Given the description of an element on the screen output the (x, y) to click on. 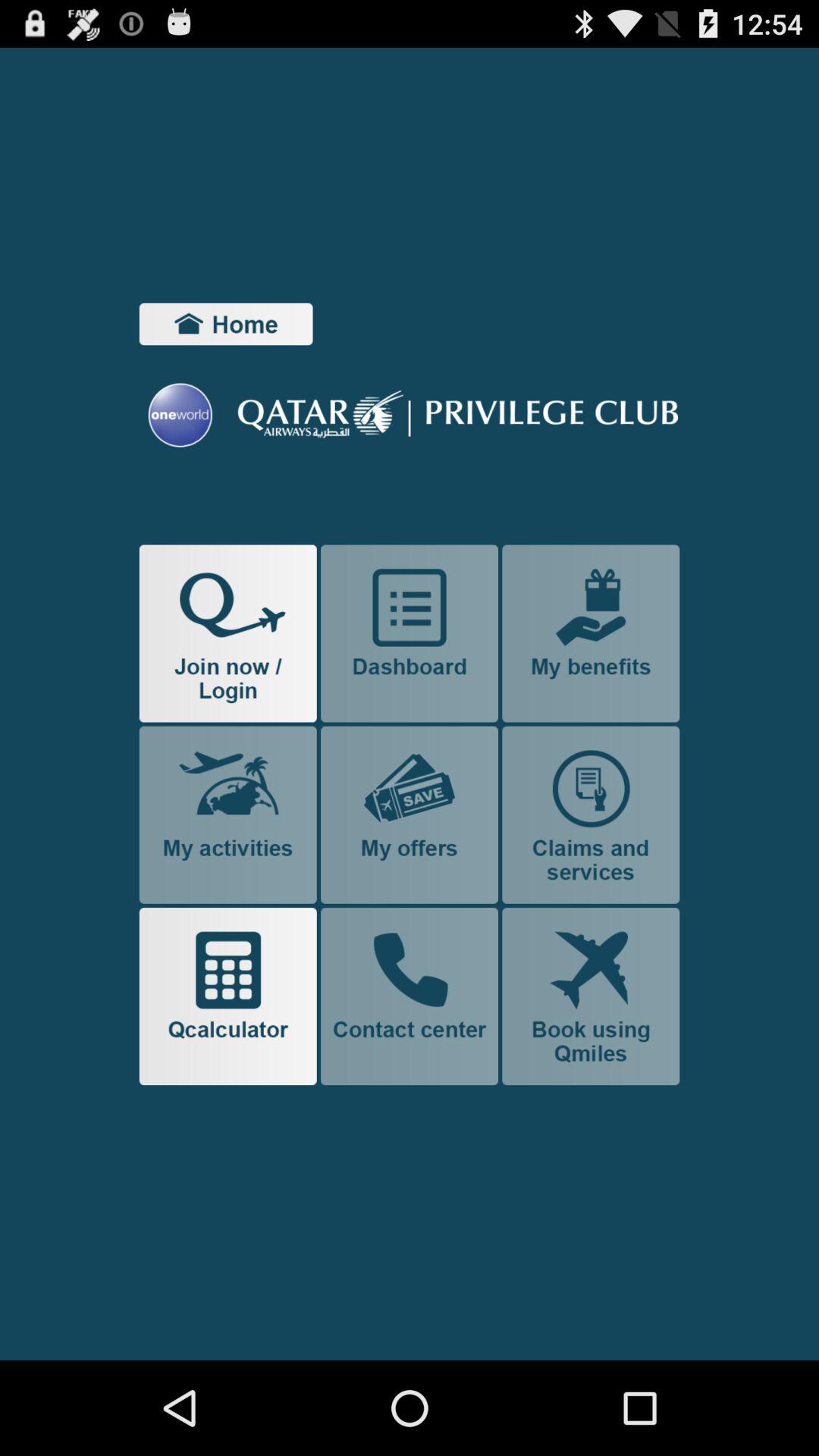
go to dashboard (409, 633)
